Given the description of an element on the screen output the (x, y) to click on. 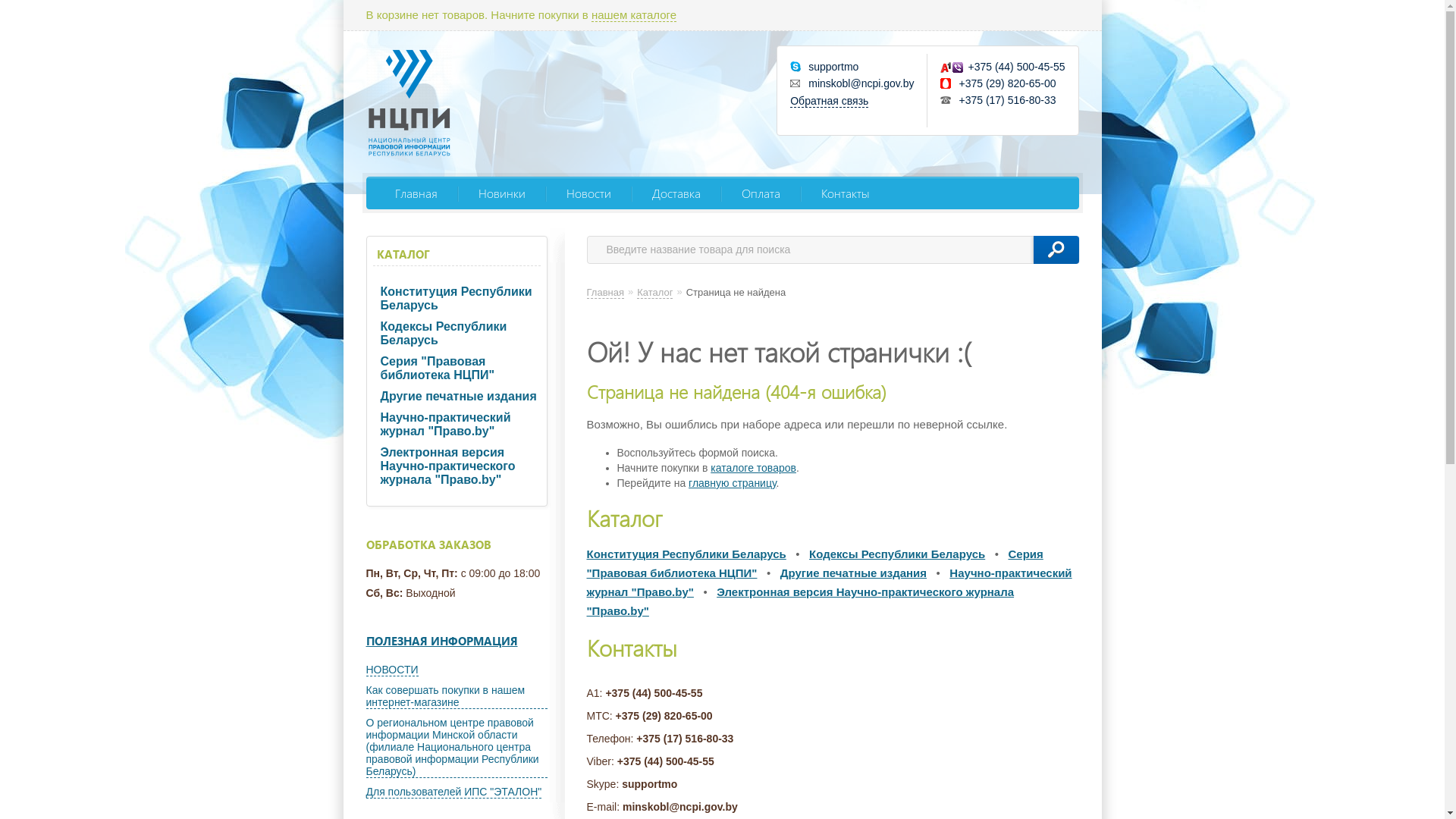
  Element type: text (1055, 249)
